Given the description of an element on the screen output the (x, y) to click on. 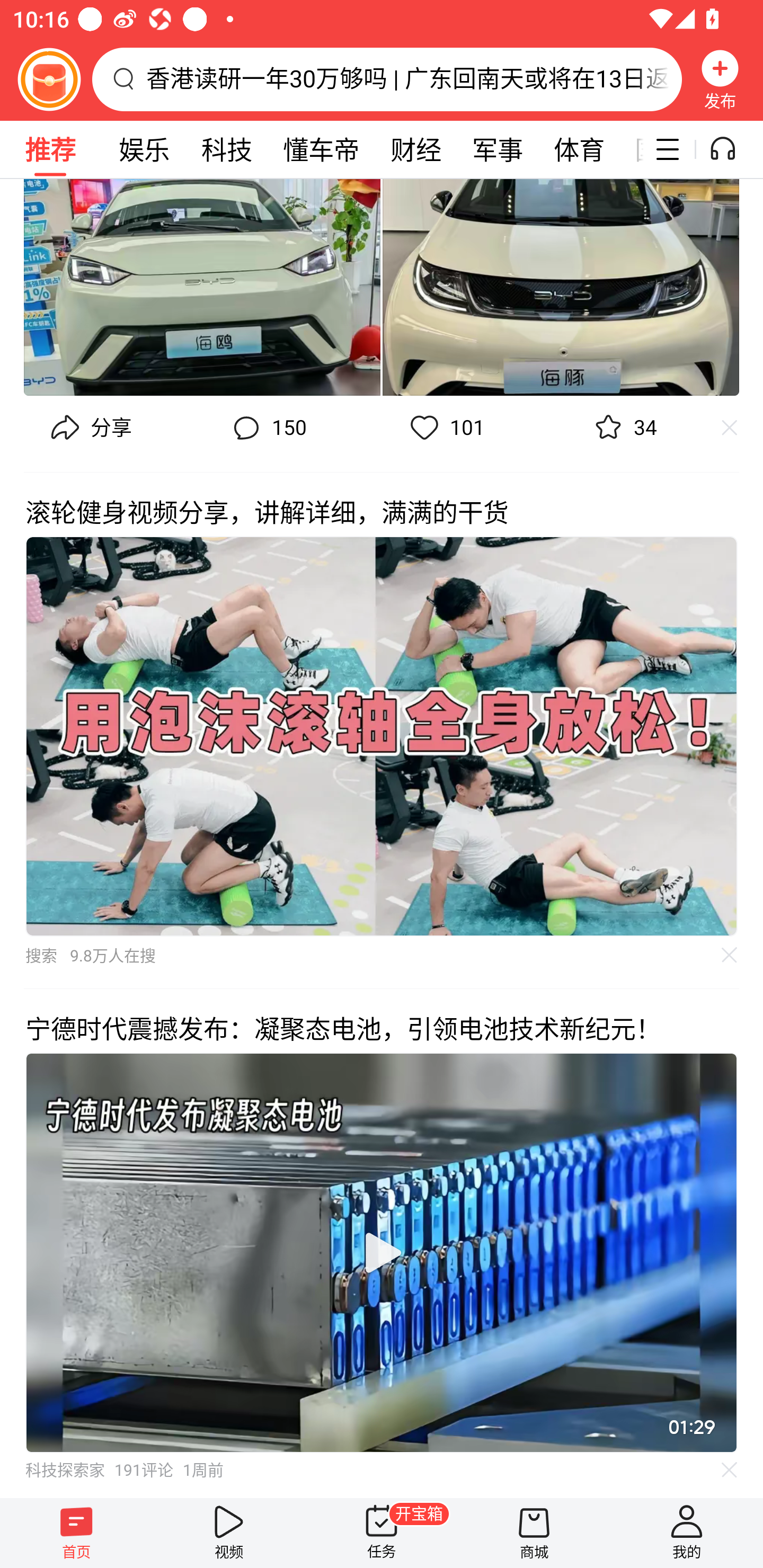
阅读赚金币 (48, 79)
发布 发布，按钮 (720, 78)
推荐 (49, 149)
娱乐 (144, 149)
科技 (226, 149)
懂车帝 (320, 149)
财经 (415, 149)
军事 (497, 149)
体育 (578, 149)
听一听开关 (732, 149)
分享 (88, 427)
评论,150 150 (266, 427)
收藏,34 34 (622, 427)
减少此类内容推荐 (737, 427)
滚轮健身视频分享，讲解详细，满满的干货 搜索 9.8万人在搜 不感兴趣 (381, 729)
不感兴趣 (729, 954)
播放视频 视频播放器，双击屏幕打开播放控制 (381, 1252)
播放视频 (381, 1252)
不感兴趣 (729, 1469)
首页 (76, 1532)
视频 (228, 1532)
任务 开宝箱 (381, 1532)
商城 (533, 1532)
我的 (686, 1532)
